Given the description of an element on the screen output the (x, y) to click on. 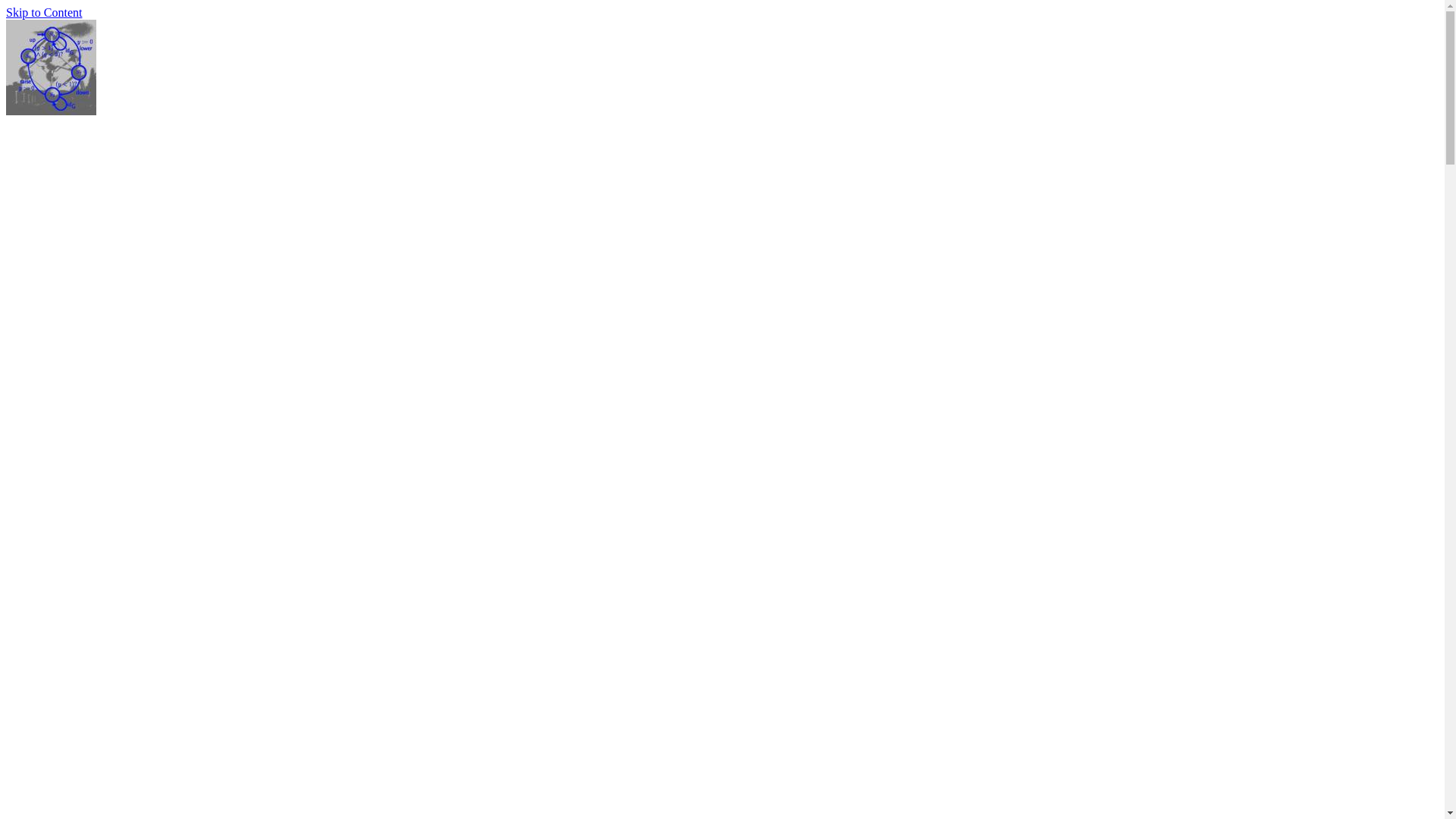
Skip to Content Element type: text (43, 12)
